Given the description of an element on the screen output the (x, y) to click on. 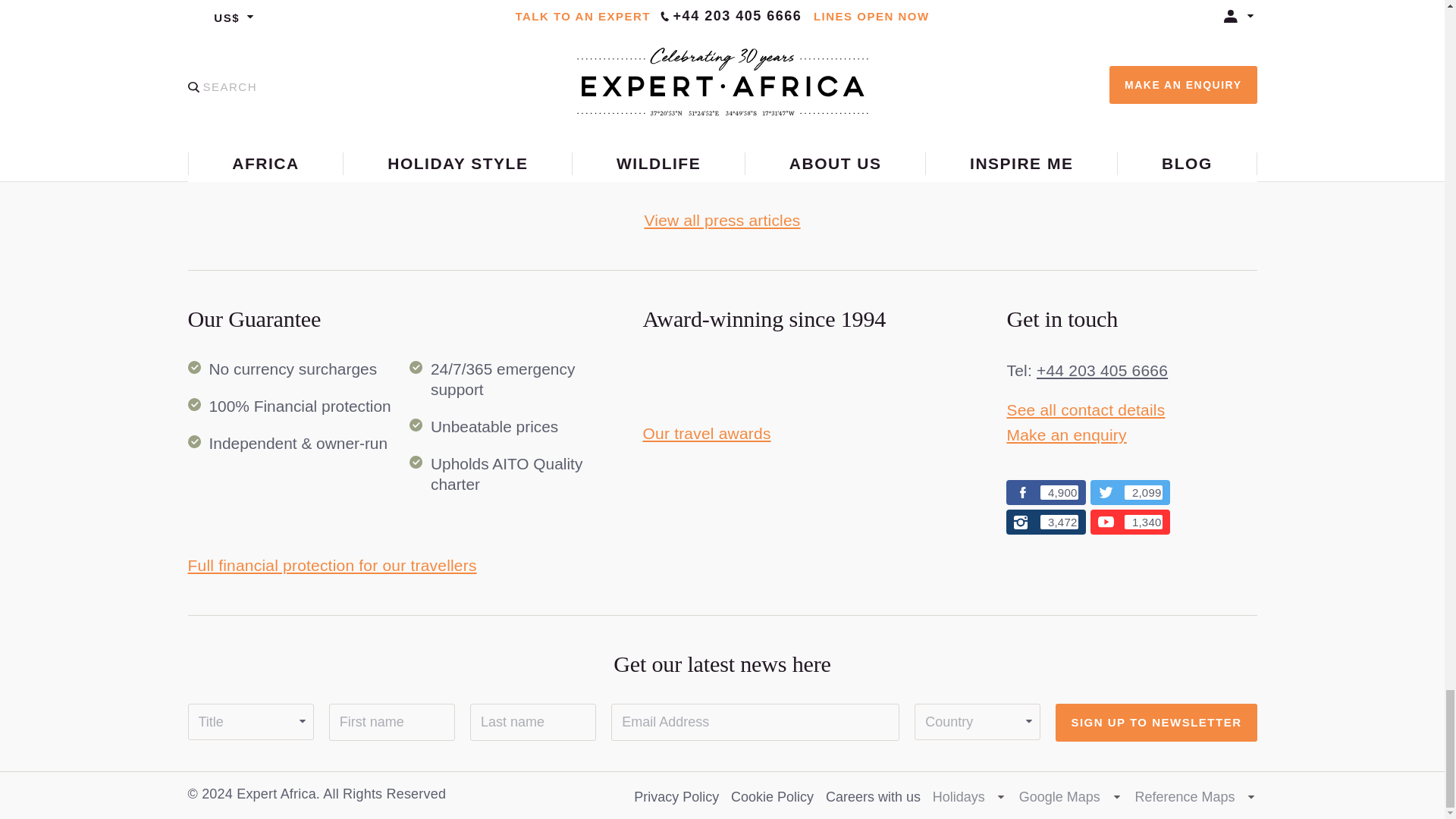
30 of the best heatwave-proof holidays to book this summer (304, 135)
Make an enquiry (1065, 434)
View all press articles (721, 220)
Contact us (1101, 370)
Full financial protection for our travellers (332, 565)
Our travel awards (707, 433)
See all contact details (1085, 409)
Expert Africa on Twitter (1130, 492)
Expert Africa on Facebook (1046, 492)
Expert Africa on Instagram (1046, 521)
